Given the description of an element on the screen output the (x, y) to click on. 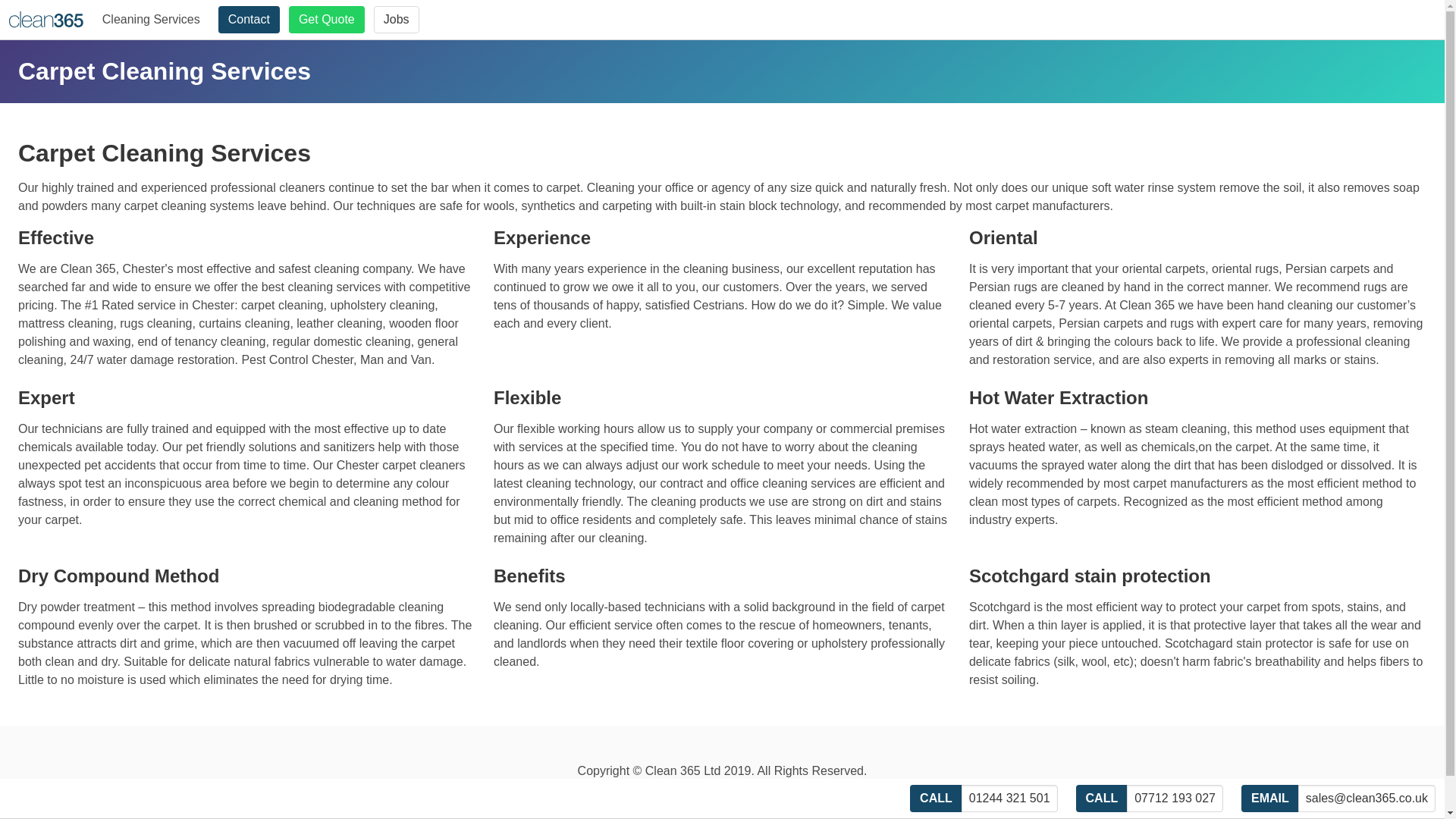
Get Quote (326, 19)
Jobs (396, 19)
EMAIL (1269, 798)
CALL (936, 798)
Cleaning Services (151, 19)
CALL (1101, 798)
Contact (248, 19)
